Given the description of an element on the screen output the (x, y) to click on. 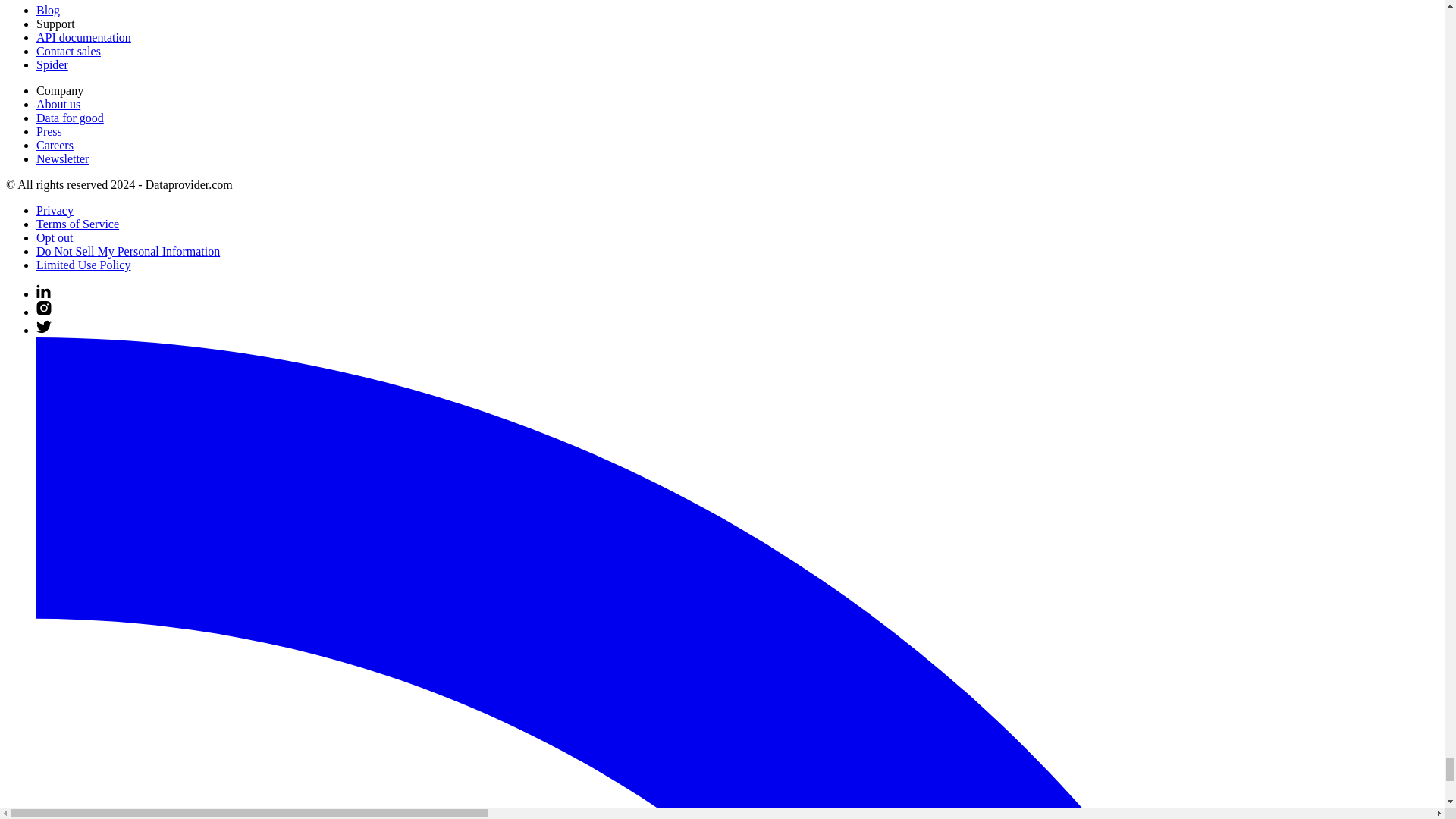
API documentation (83, 37)
Contact sales (68, 51)
Blog (47, 10)
Spider (52, 64)
